Given the description of an element on the screen output the (x, y) to click on. 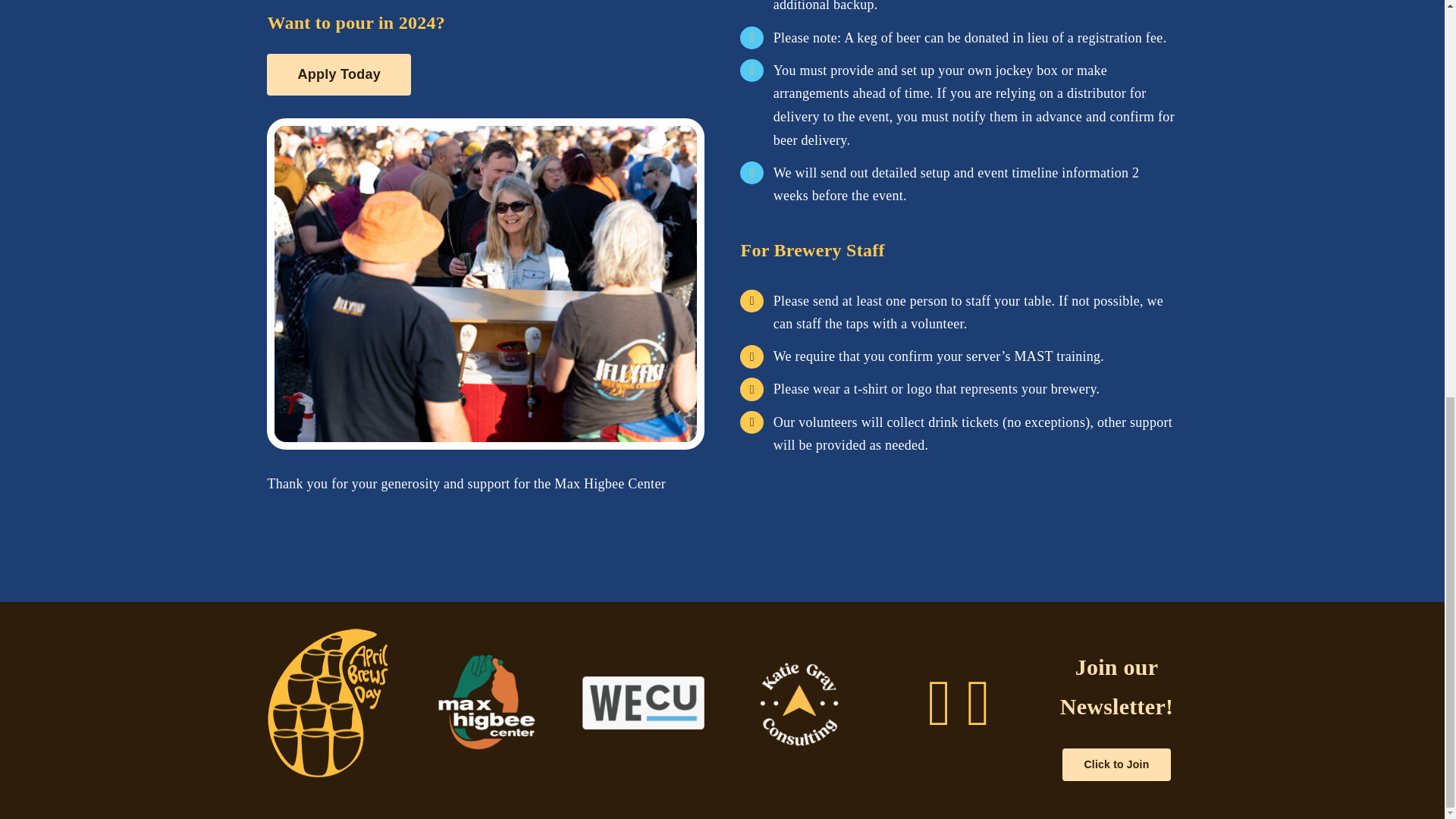
abd-slider-3 (485, 284)
AprilBrewsDayLogoPilsner-200 (327, 703)
Apply Today (338, 74)
WECU Transparent (642, 702)
KGC Transparent Cream logo (800, 702)
Click to Join (1117, 764)
